Given the description of an element on the screen output the (x, y) to click on. 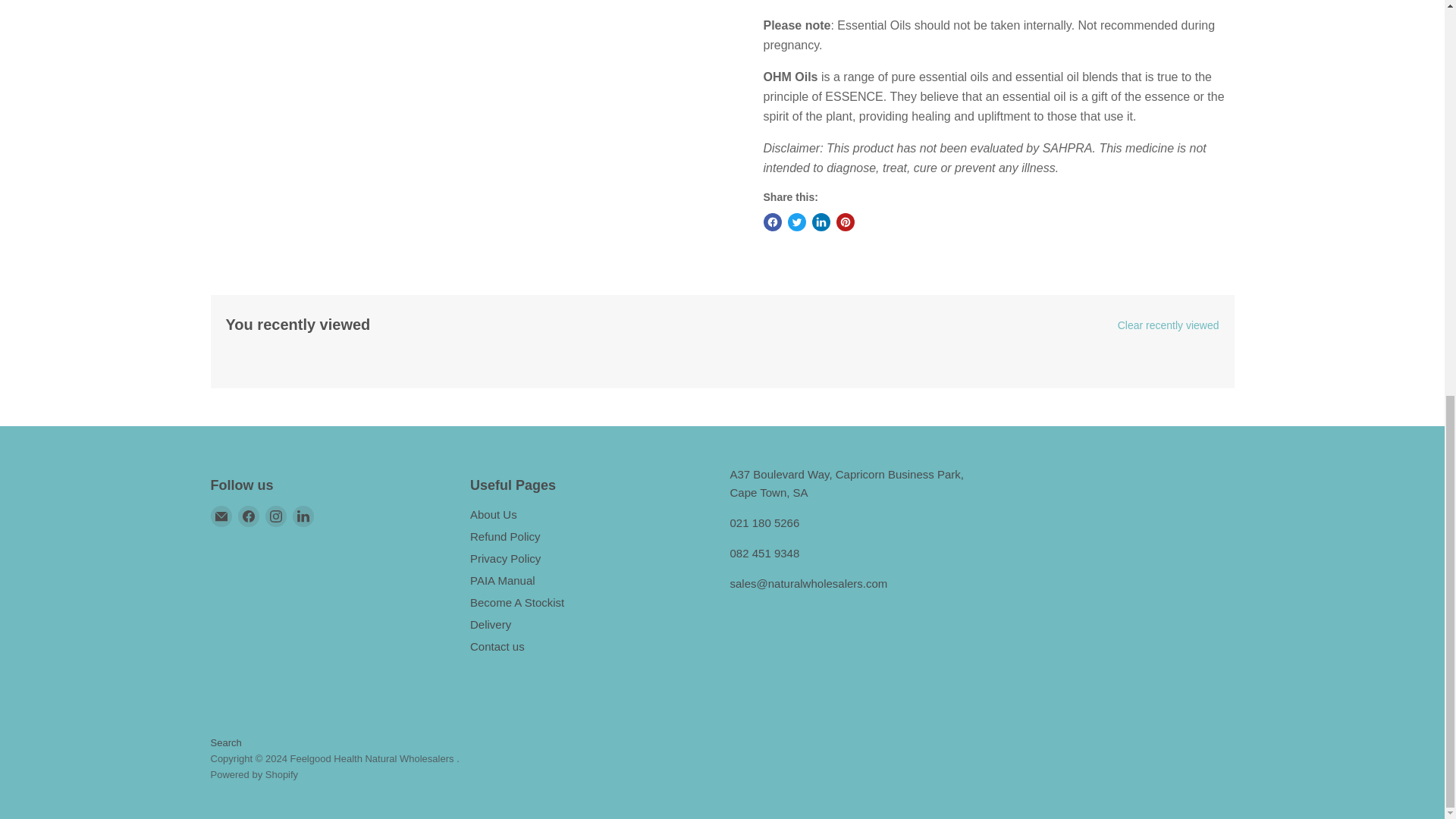
Find us on Facebook (248, 516)
Facebook (248, 516)
Share on Facebook (771, 221)
Share on LinkedIn (819, 221)
Clear recently viewed (1169, 325)
Instagram (275, 516)
Tweet on Twitter (796, 221)
Pin on Pinterest (844, 221)
Email Feelgood Health Natural Wholesalers (221, 516)
Email (221, 516)
